Given the description of an element on the screen output the (x, y) to click on. 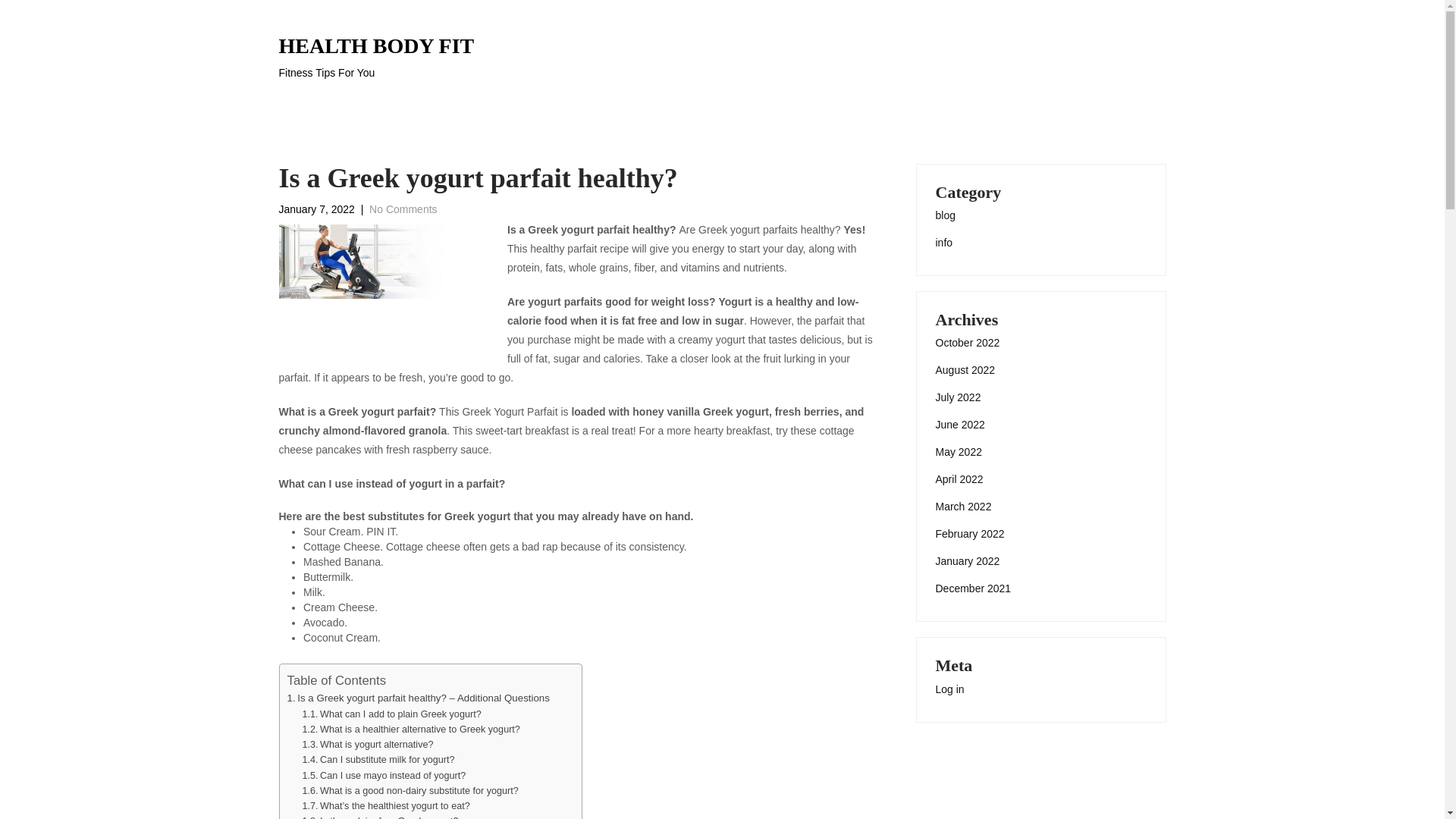
February 2022 (970, 533)
blog (945, 215)
What is a good non-dairy substitute for yogurt? (419, 790)
June 2022 (960, 424)
Log in (949, 688)
info (944, 242)
April 2022 (960, 478)
March 2022 (963, 506)
Is there dairy-free Greek yogurt? (376, 58)
What is a healthier alternative to Greek yogurt? (389, 817)
January 2022 (419, 728)
May 2022 (968, 560)
What is a healthier alternative to Greek yogurt? (958, 451)
Can I substitute milk for yogurt? (419, 728)
